Given the description of an element on the screen output the (x, y) to click on. 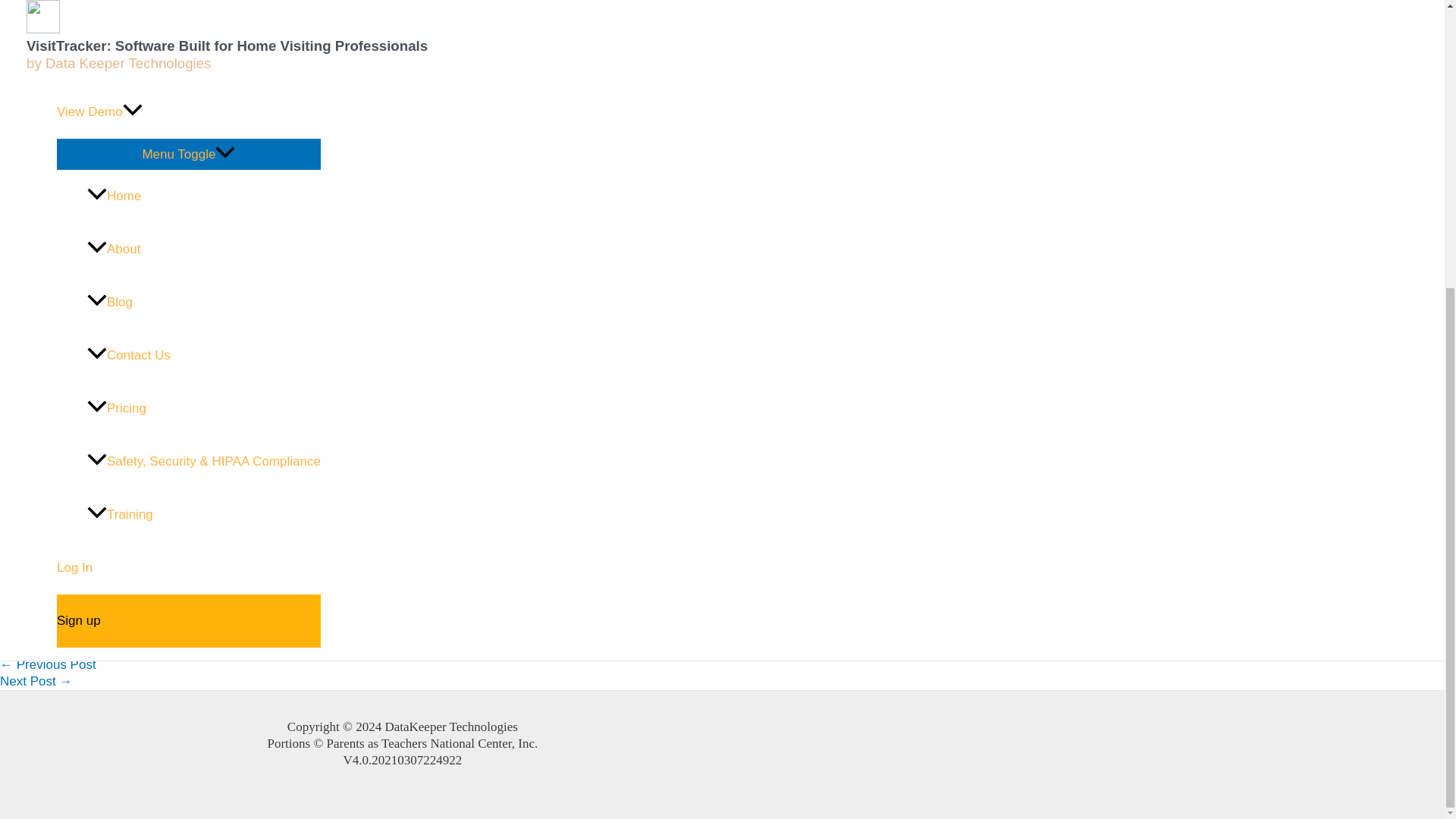
Log In (188, 131)
DATA CHECK!  New Assessment Reports (35, 681)
Sign up (188, 184)
Training (203, 78)
Custom Reports: Enrollment Summary (48, 664)
